Given the description of an element on the screen output the (x, y) to click on. 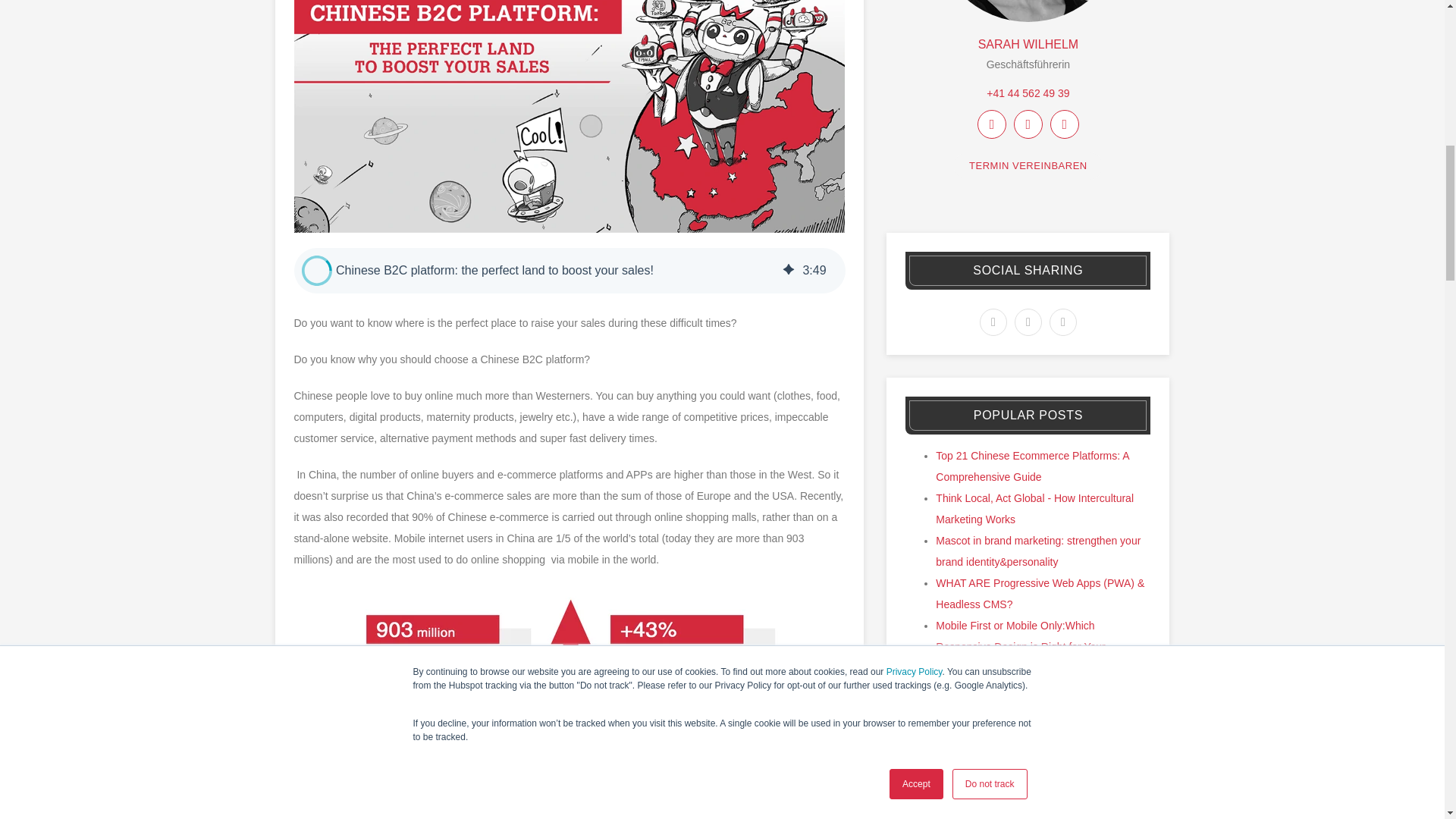
Share on LinkedIn (1063, 320)
Tweet (1028, 320)
TERMIN VEREINBAREN (1027, 165)
Share on Facebook (993, 320)
xing (1063, 123)
linkedin (1027, 123)
Termin vereinbaren (1027, 165)
mail (991, 123)
phone (1027, 92)
